Given the description of an element on the screen output the (x, y) to click on. 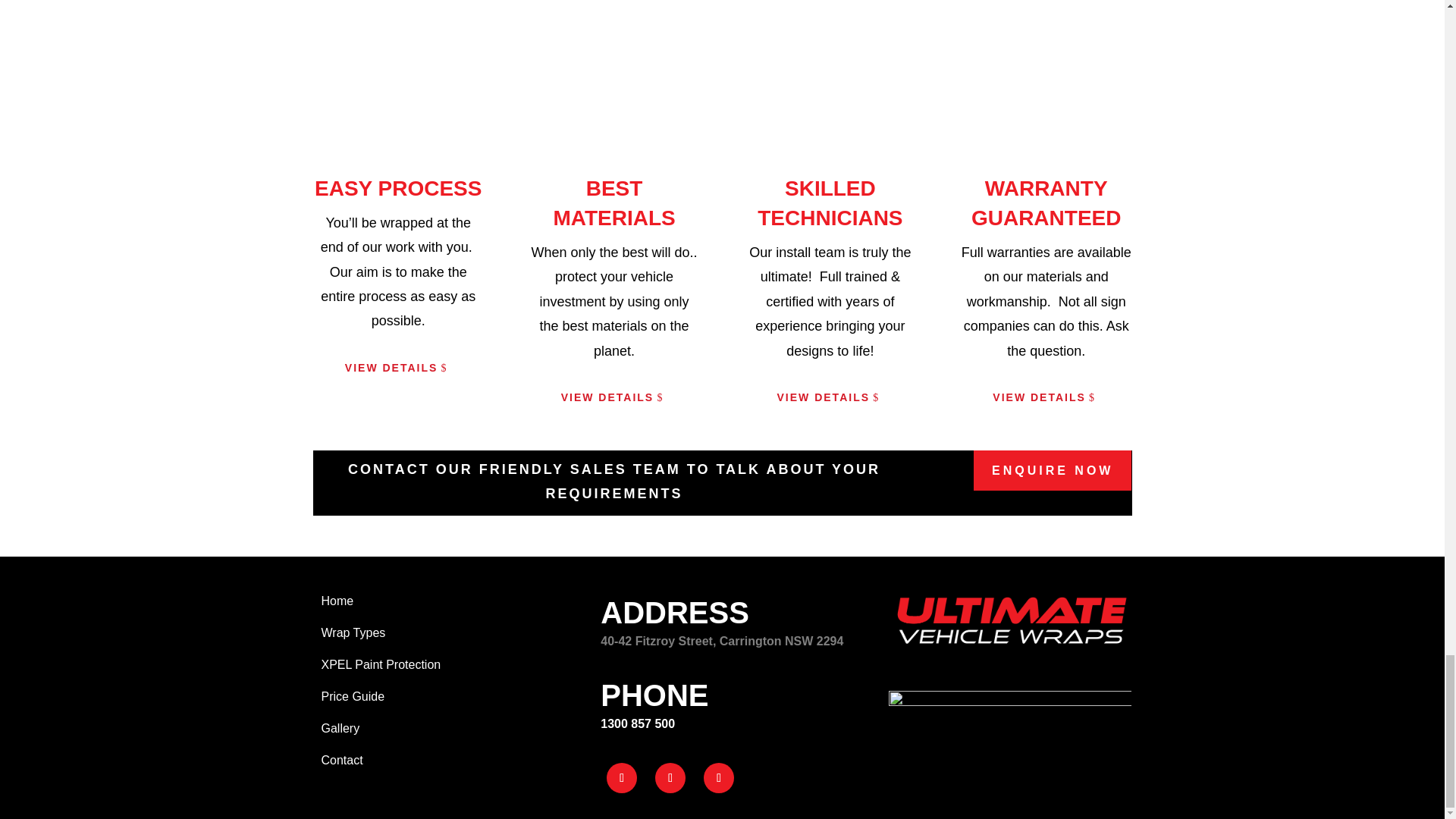
Follow on Facebook (622, 777)
Follow on Instagram (670, 777)
Follow on Youtube (718, 777)
